Given the description of an element on the screen output the (x, y) to click on. 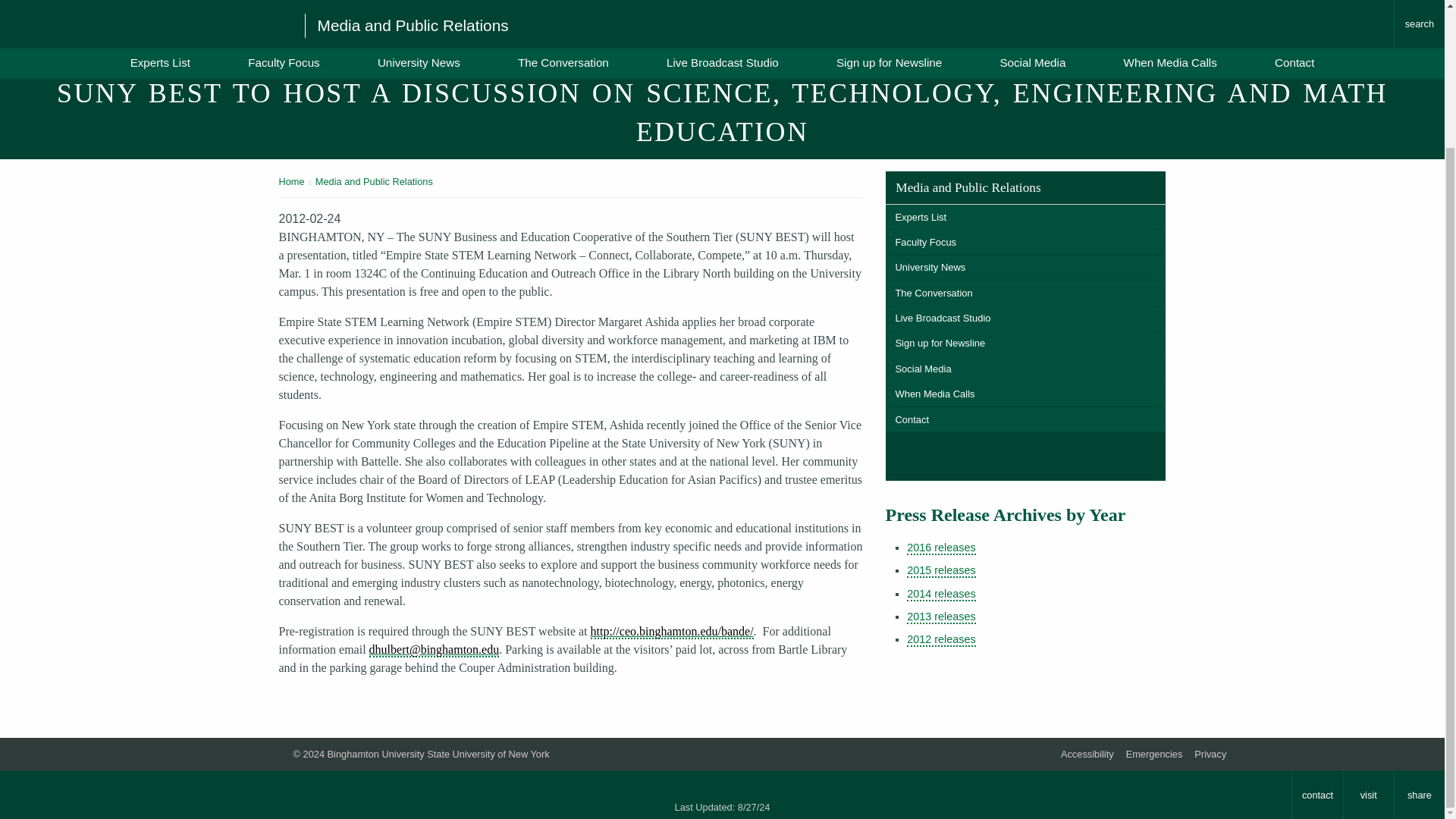
Accessibility (1086, 754)
Home (291, 181)
Social Media (1025, 368)
Sign up for Newsline (1025, 343)
Media and Public Relations (1025, 187)
Media and Public Relations (373, 181)
2016 releases (941, 548)
When Media Calls (1025, 394)
University News (1025, 267)
The Conversation (1025, 292)
